Given the description of an element on the screen output the (x, y) to click on. 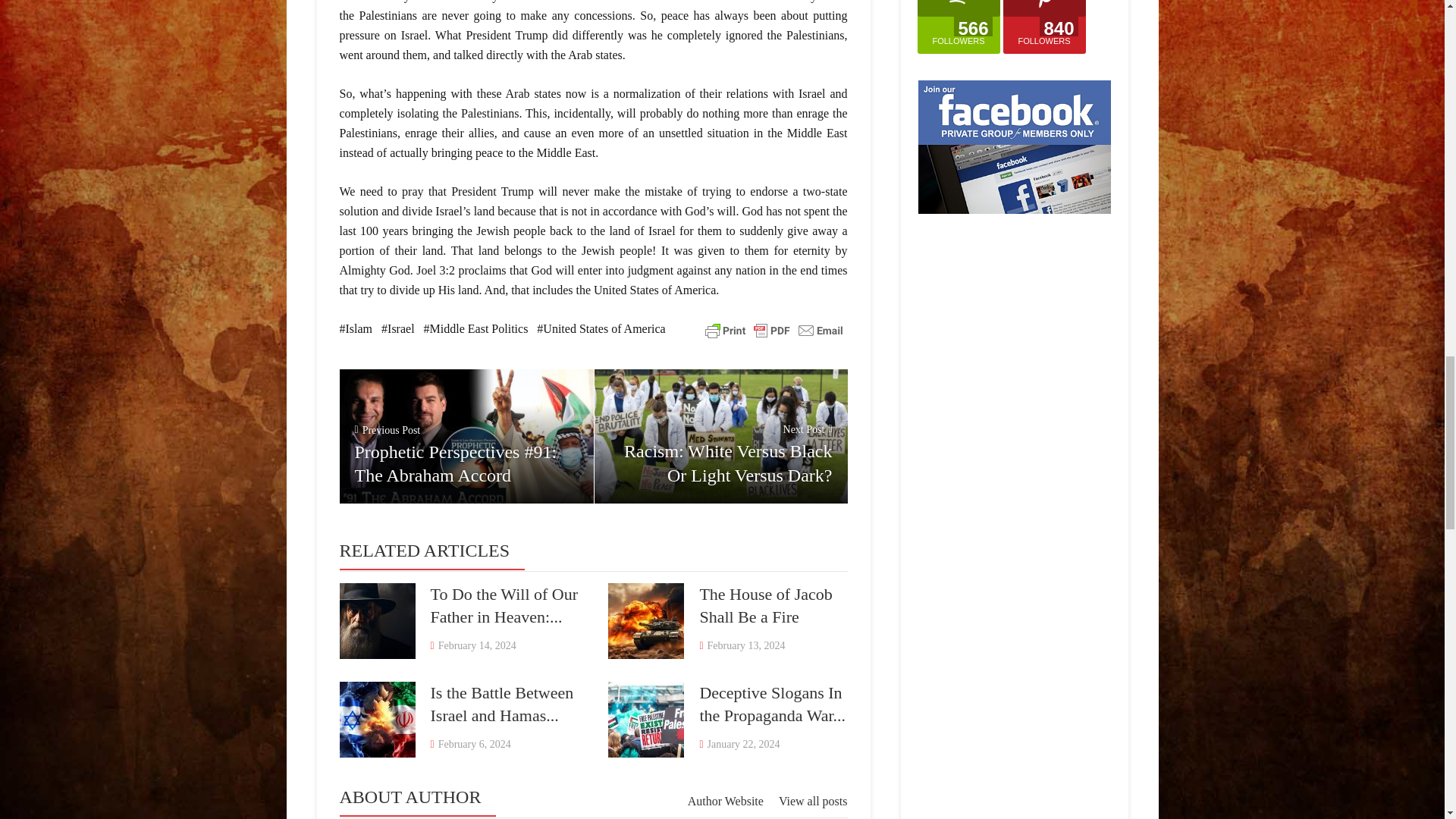
The House of Jacob Shall Be a Fire (764, 605)
Deceptive Slogans In the Propaganda War Against Israel (771, 703)
The House of Jacob Shall Be a Fire (646, 621)
Is the Battle Between Israel and Hamas a Prophetic War? (501, 703)
Is the Battle Between Israel and Hamas a Prophetic War? (376, 719)
Deceptive Slogans In the Propaganda War Against Israel (646, 719)
